Given the description of an element on the screen output the (x, y) to click on. 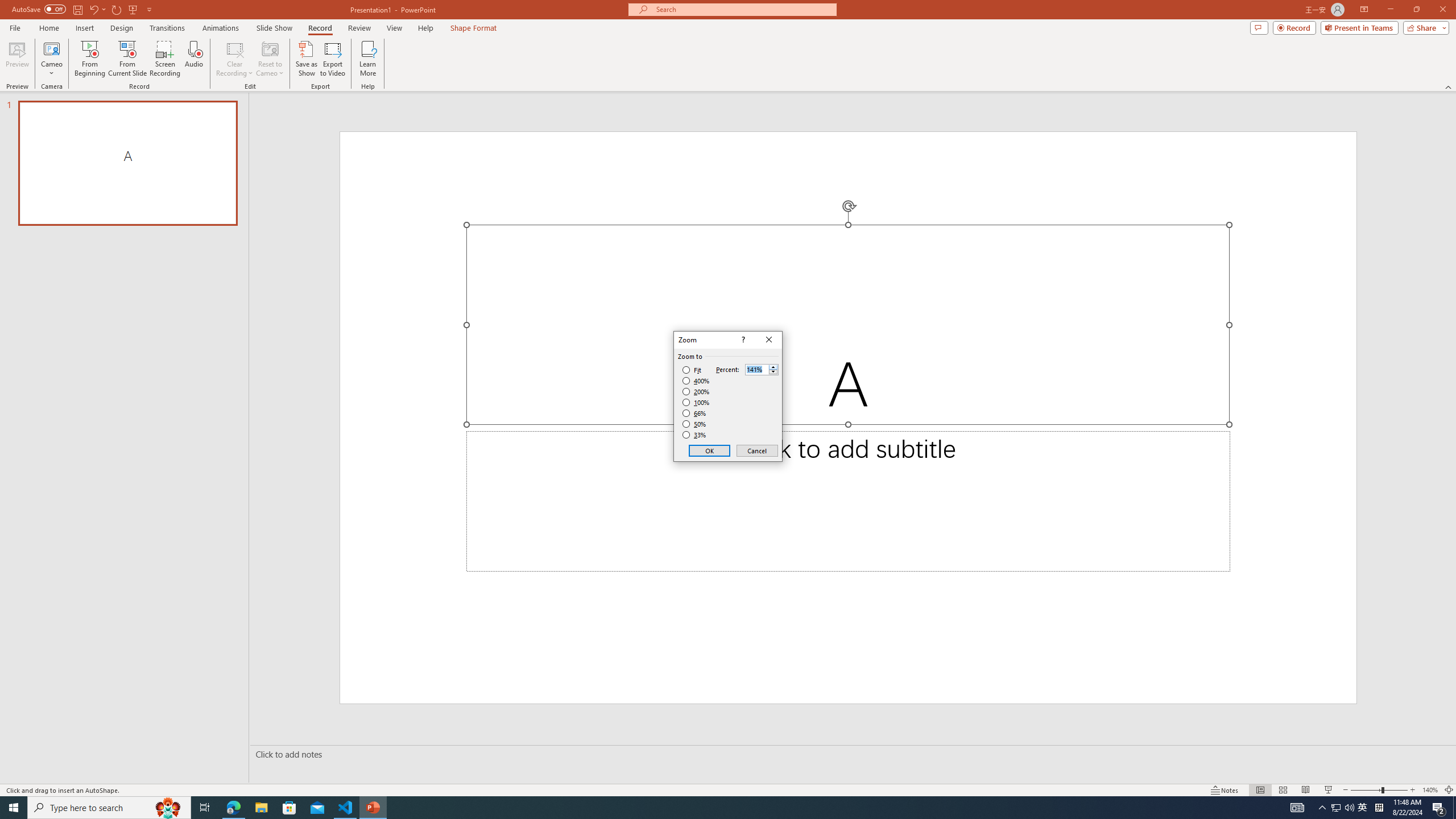
Microsoft Edge - 1 running window (233, 807)
Save as Show (306, 58)
